Given the description of an element on the screen output the (x, y) to click on. 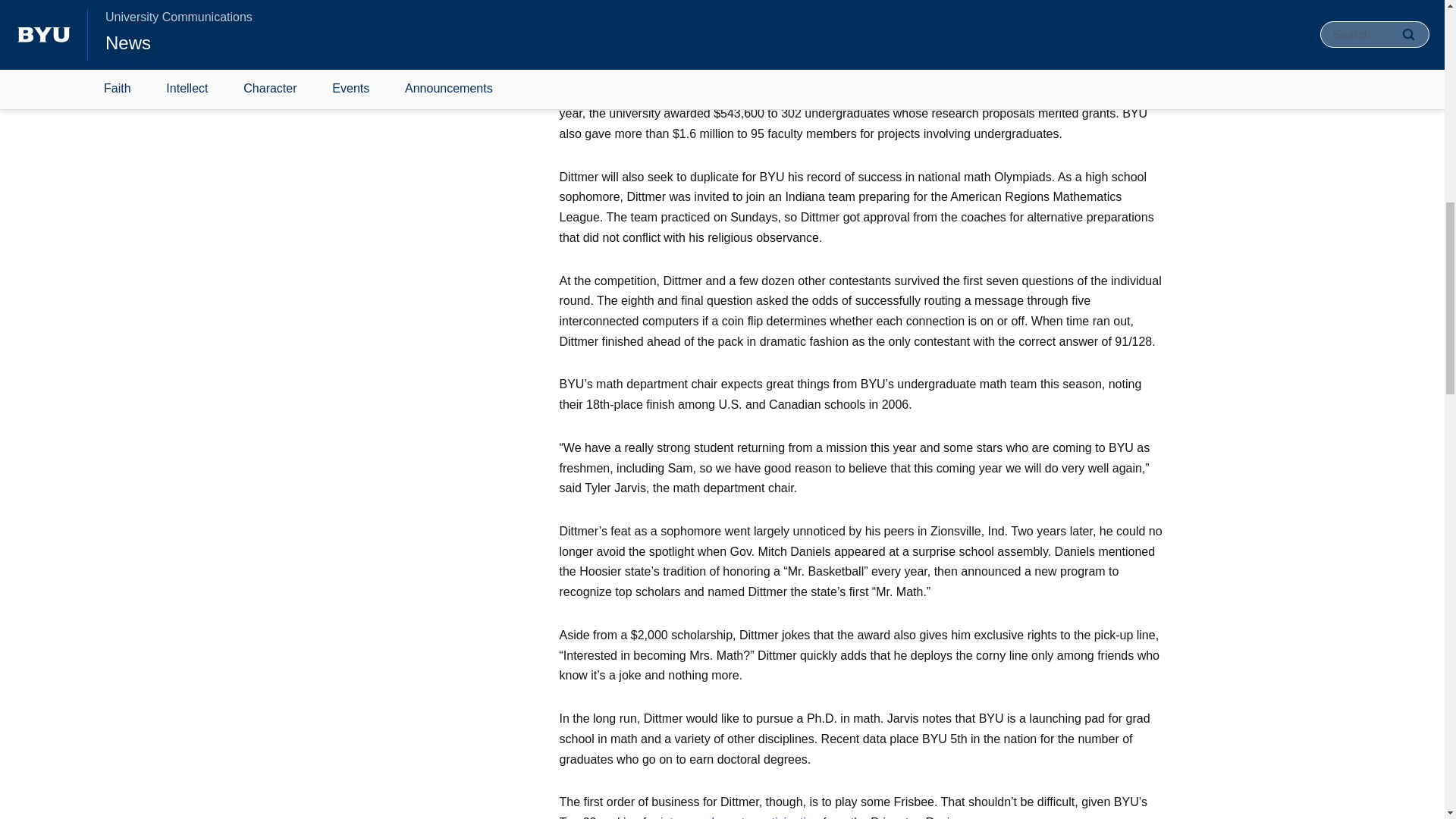
intramural sports participation (740, 817)
Mentored research experiences (644, 72)
